Given the description of an element on the screen output the (x, y) to click on. 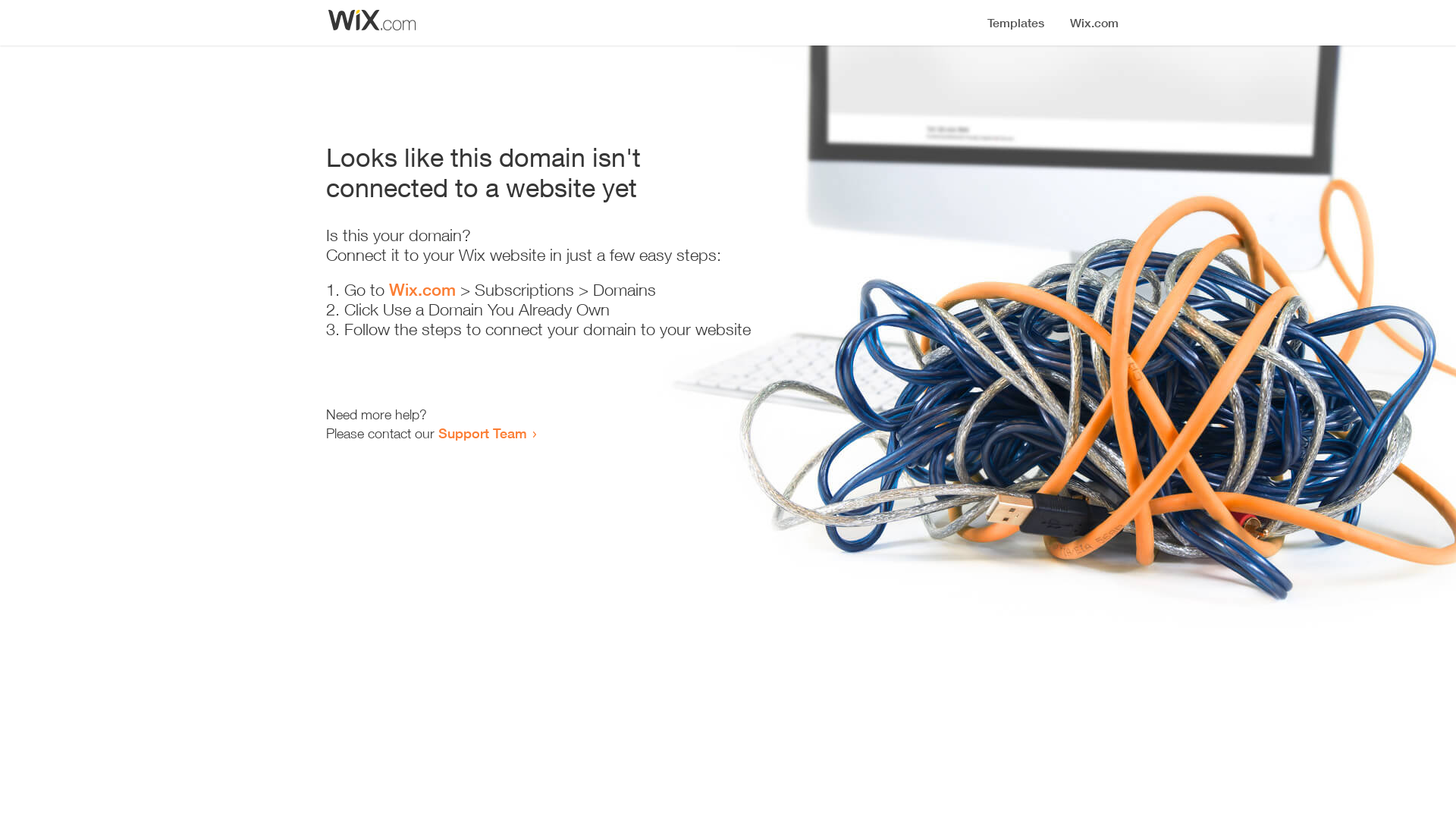
Support Team Element type: text (482, 432)
Wix.com Element type: text (422, 289)
